Given the description of an element on the screen output the (x, y) to click on. 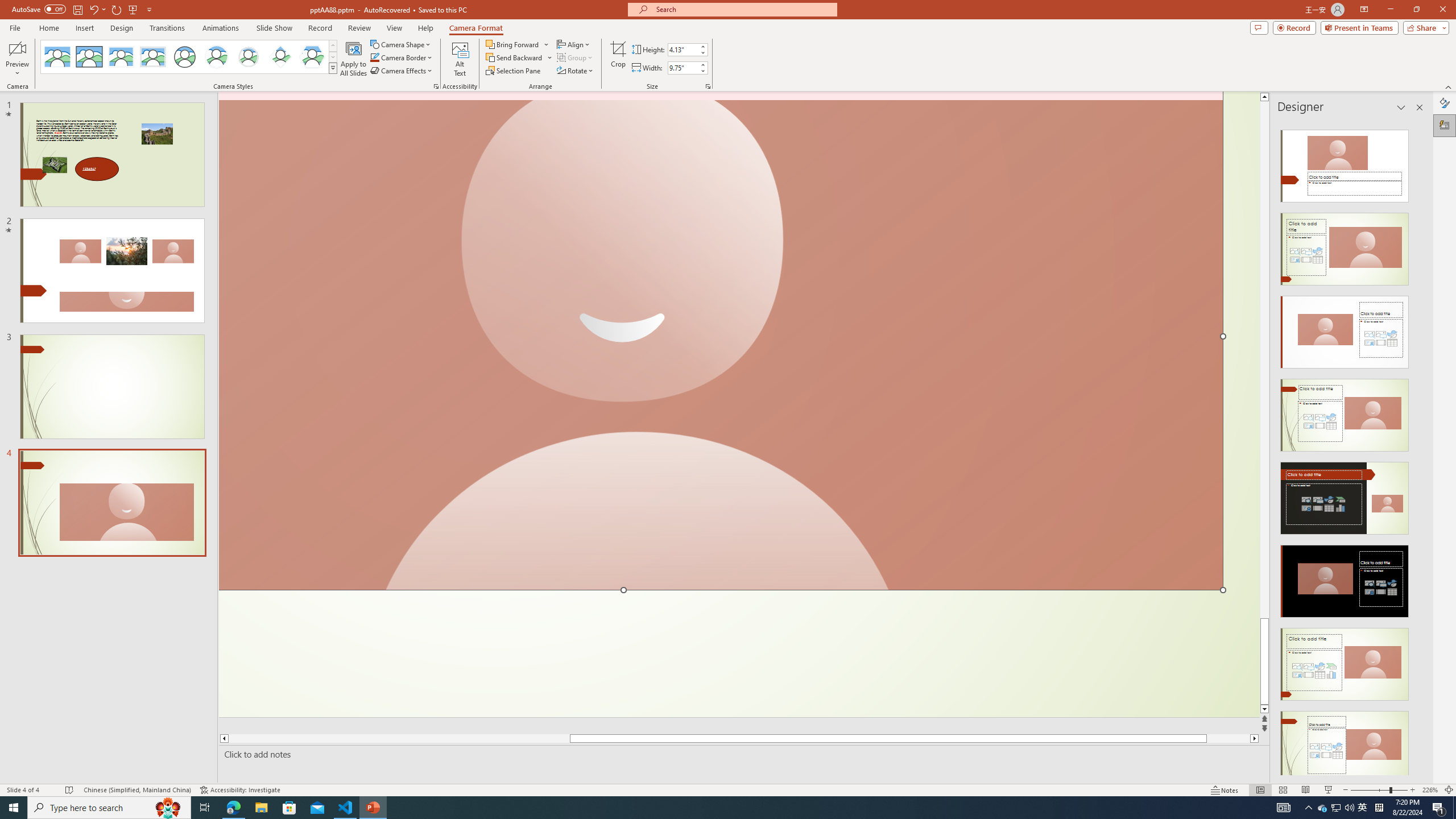
Center Shadow Diamond (280, 56)
Camera Border Teal, Accent 1 (374, 56)
Center Shadow Circle (216, 56)
